Given the description of an element on the screen output the (x, y) to click on. 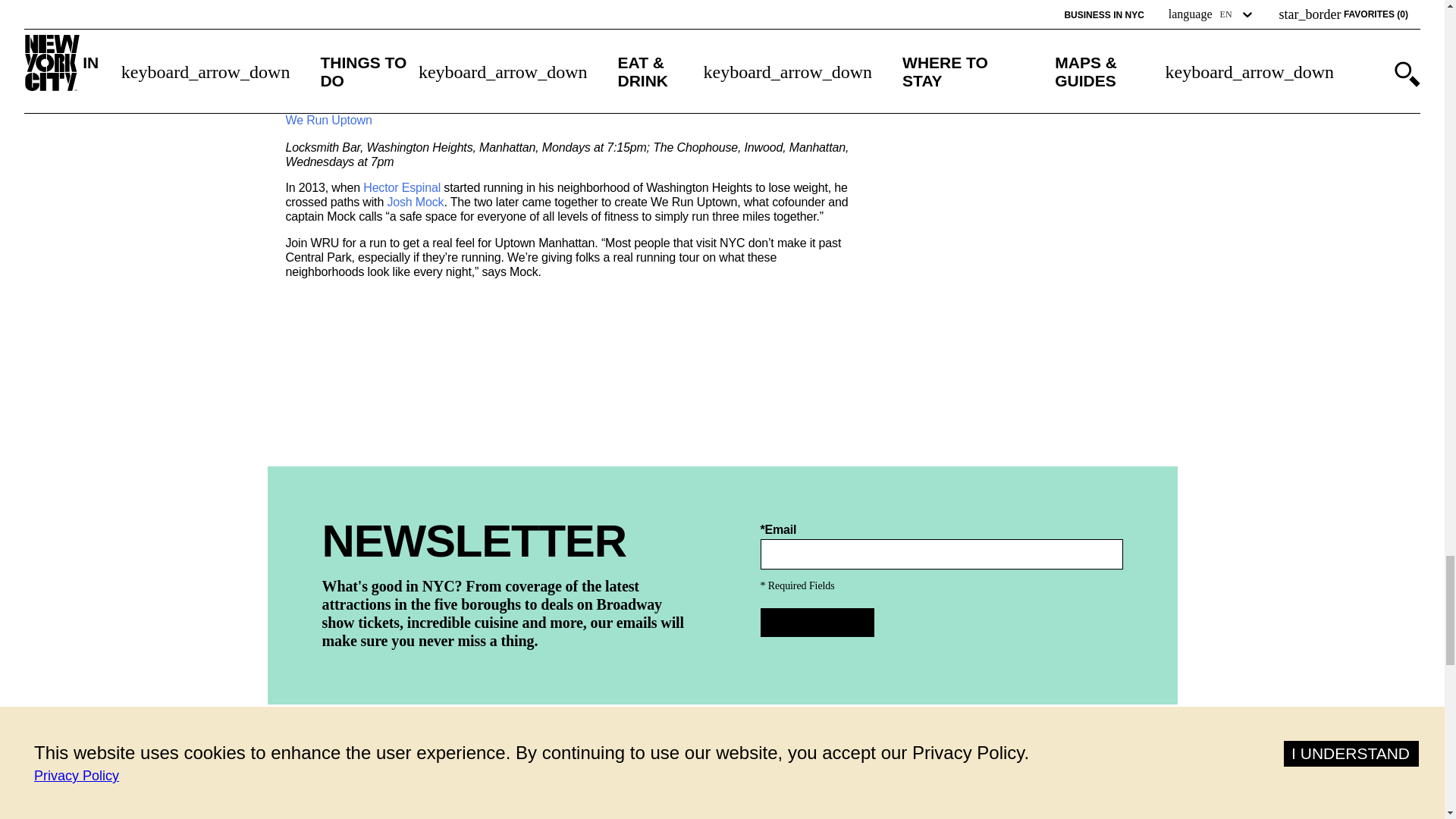
Hector Espinal (401, 187)
Josh Mock (415, 202)
SIGN UP (816, 622)
We Run Uptown (328, 120)
